Given the description of an element on the screen output the (x, y) to click on. 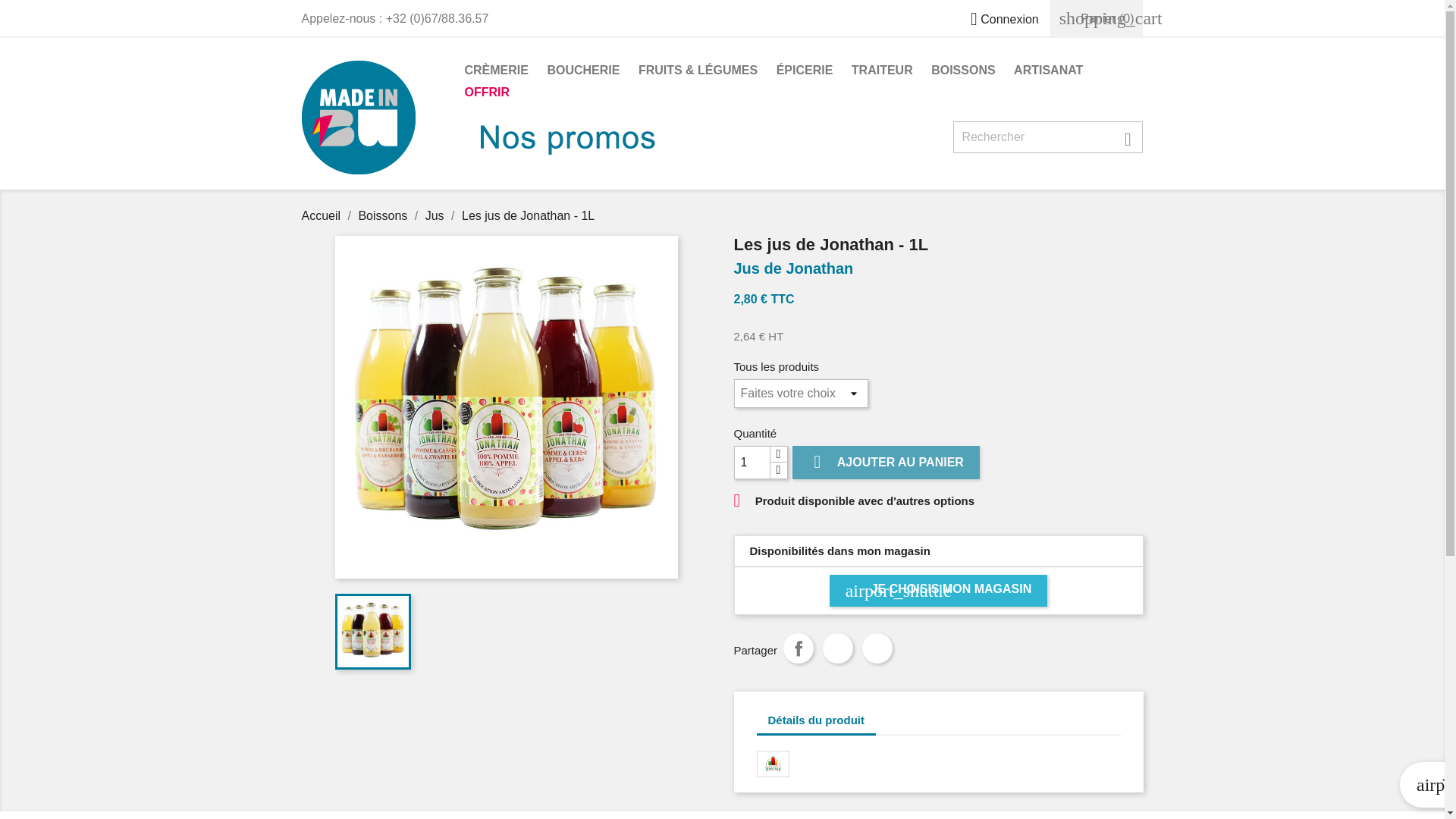
Jus Element type: text (436, 215)
TRAITEUR Element type: text (882, 71)
Jus de Jonathan Element type: text (938, 268)
ARTISANAT Element type: text (1048, 71)
OFFRIR Element type: text (486, 93)
Les jus de Jonathan - 1L Element type: text (527, 215)
Promotion de notre plateforme  Element type: hover (794, 169)
Partager Element type: text (798, 648)
Boissons Element type: text (383, 215)
airport_shuttle
JE CHOISIS MON MAGASIN Element type: text (938, 590)
BOISSONS Element type: text (962, 71)
Pinterest Element type: text (877, 648)
Promotion de notre plateforme  Element type: hover (574, 144)
Tweet Element type: text (837, 648)
BOUCHERIE Element type: text (583, 71)
Accueil Element type: text (322, 215)
